Given the description of an element on the screen output the (x, y) to click on. 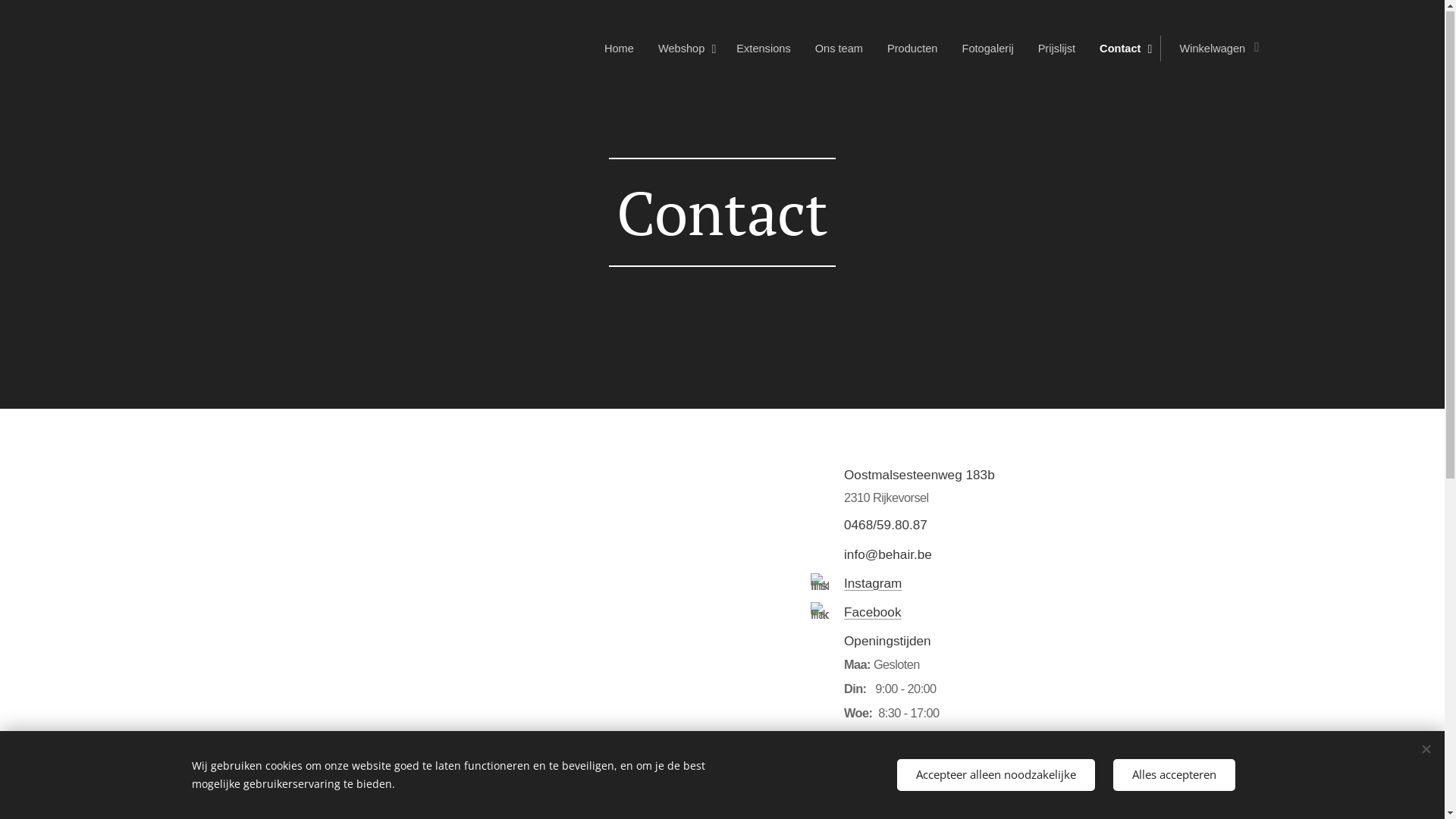
Fotogalerij Element type: text (987, 49)
Home Element type: text (623, 49)
Prijslijst Element type: text (1056, 49)
Alles accepteren Element type: text (1174, 774)
Accepteer alleen noodzakelijke Element type: text (995, 774)
Winkelwagen Element type: text (1213, 49)
Extensions Element type: text (763, 49)
Instagram Element type: text (871, 583)
Facebook Element type: text (871, 612)
Instagram link Element type: hover (818, 583)
Ons team Element type: text (839, 49)
Webshop Element type: text (685, 49)
Producten Element type: text (912, 49)
Contact Element type: text (1123, 49)
Facebook link Element type: hover (818, 611)
